Given the description of an element on the screen output the (x, y) to click on. 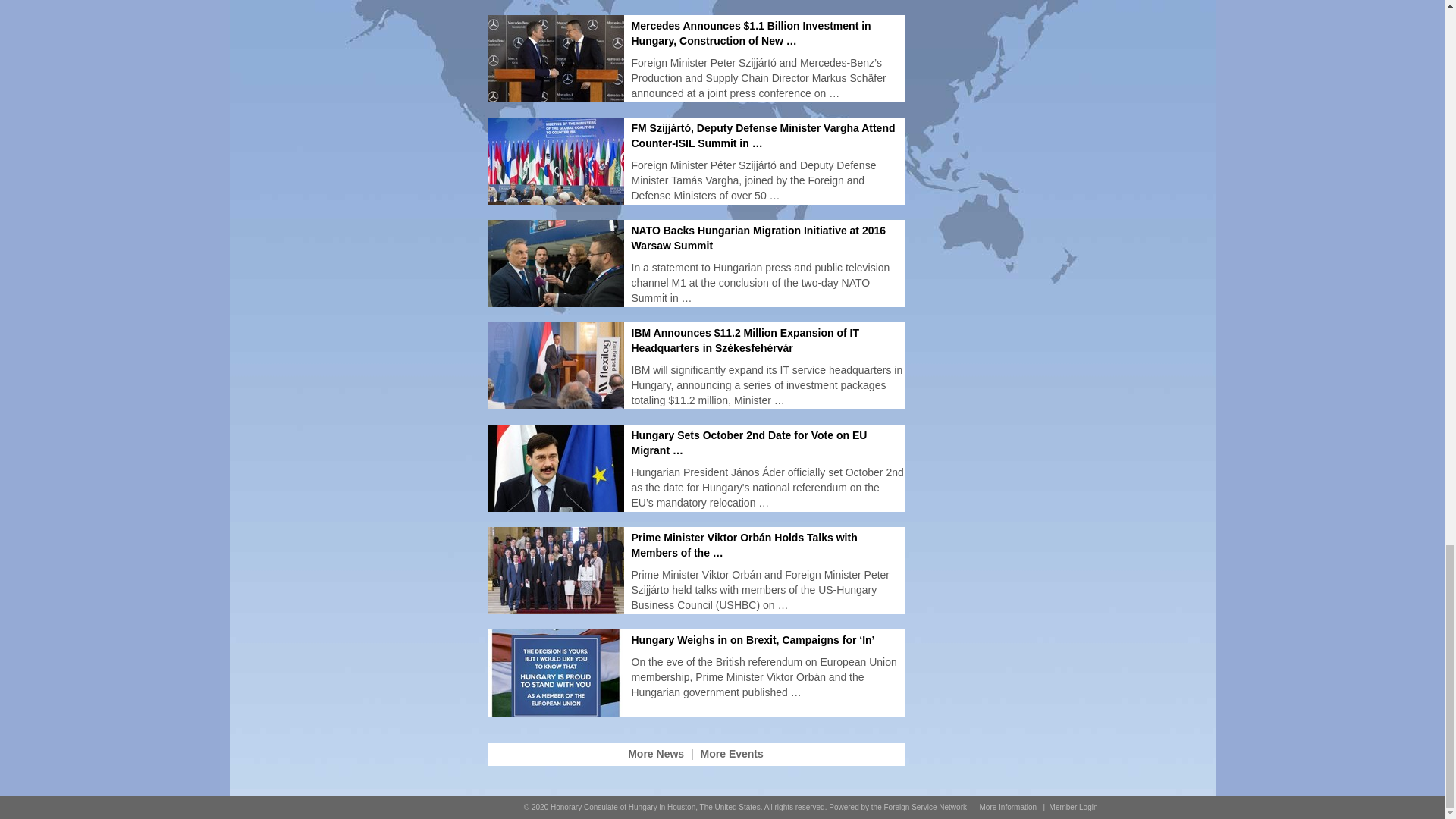
Hungary Sets October 2nd Date for Vote on EU Migrant Quotas (748, 442)
